Given the description of an element on the screen output the (x, y) to click on. 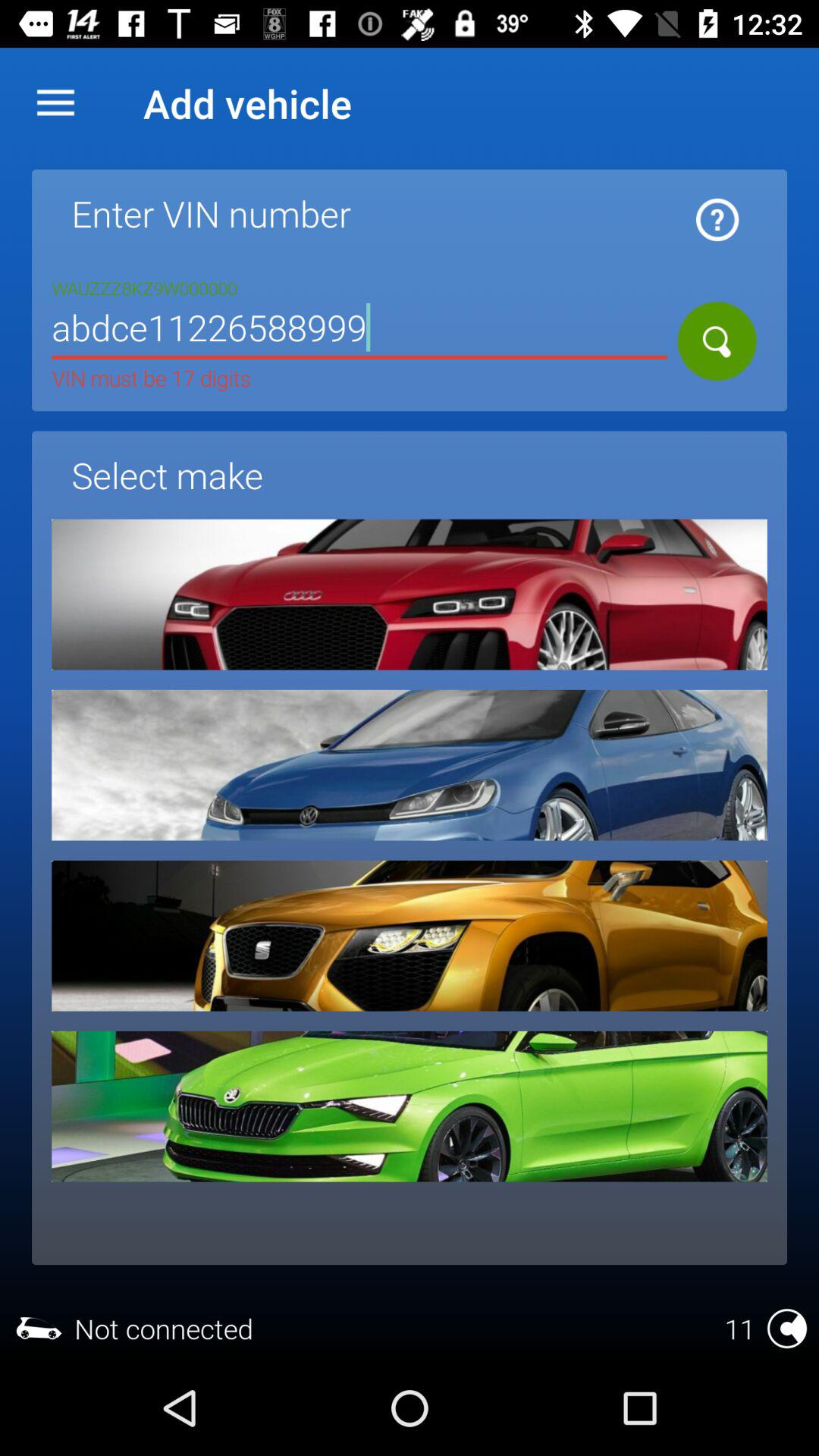
help option (717, 219)
